Given the description of an element on the screen output the (x, y) to click on. 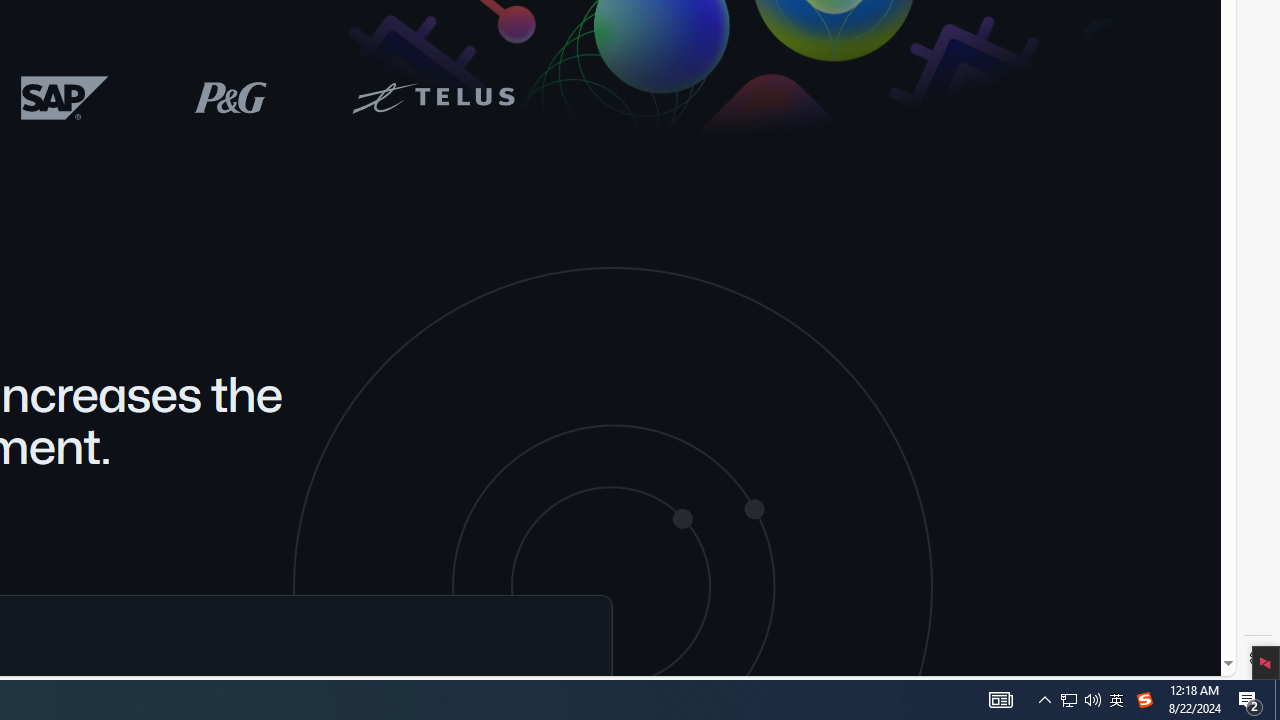
SAP logo (65, 97)
Telus logo (432, 96)
P&G logo (230, 96)
